Given the description of an element on the screen output the (x, y) to click on. 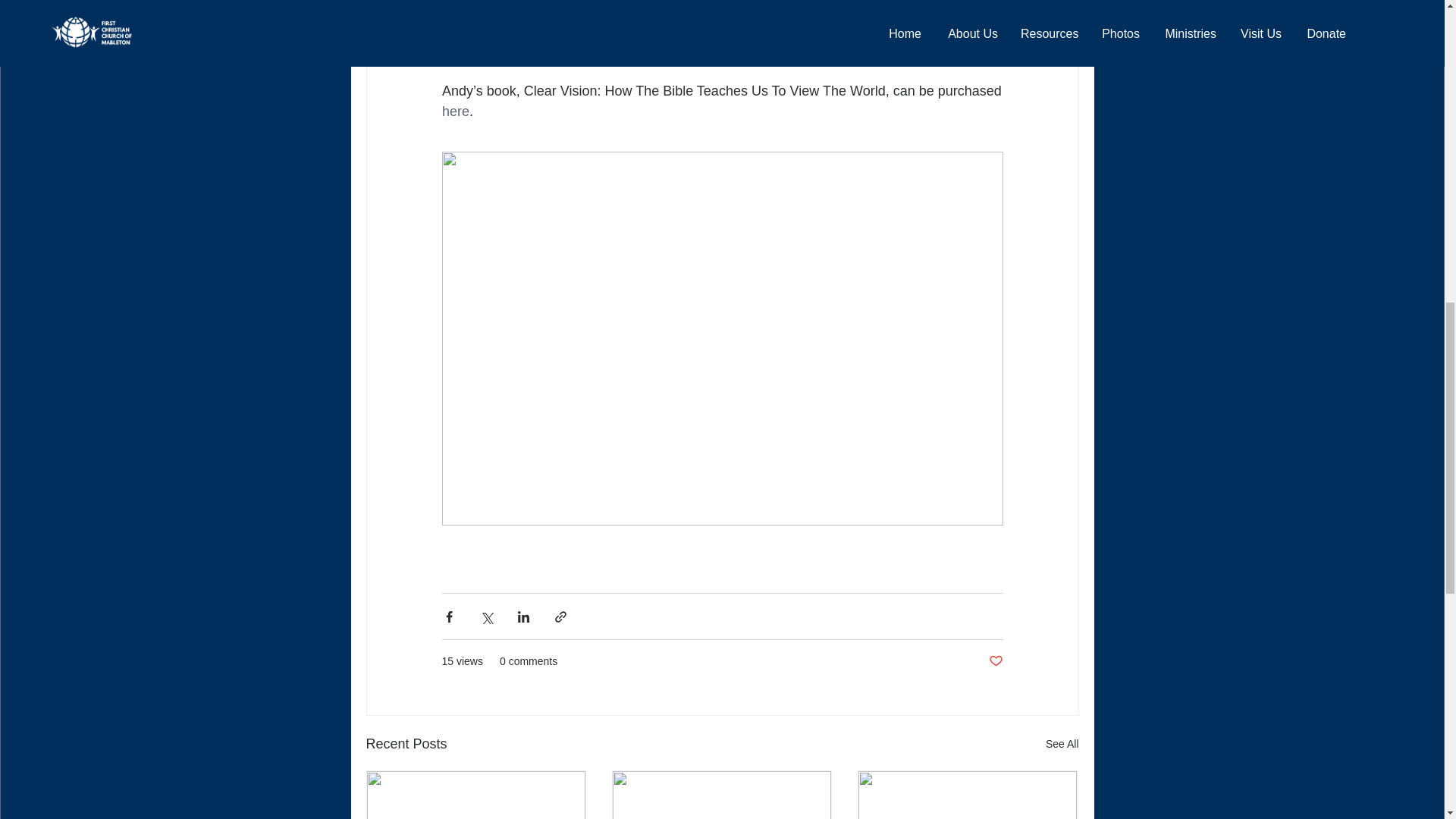
See All (1061, 744)
here (454, 111)
Post not marked as liked (995, 661)
